Given the description of an element on the screen output the (x, y) to click on. 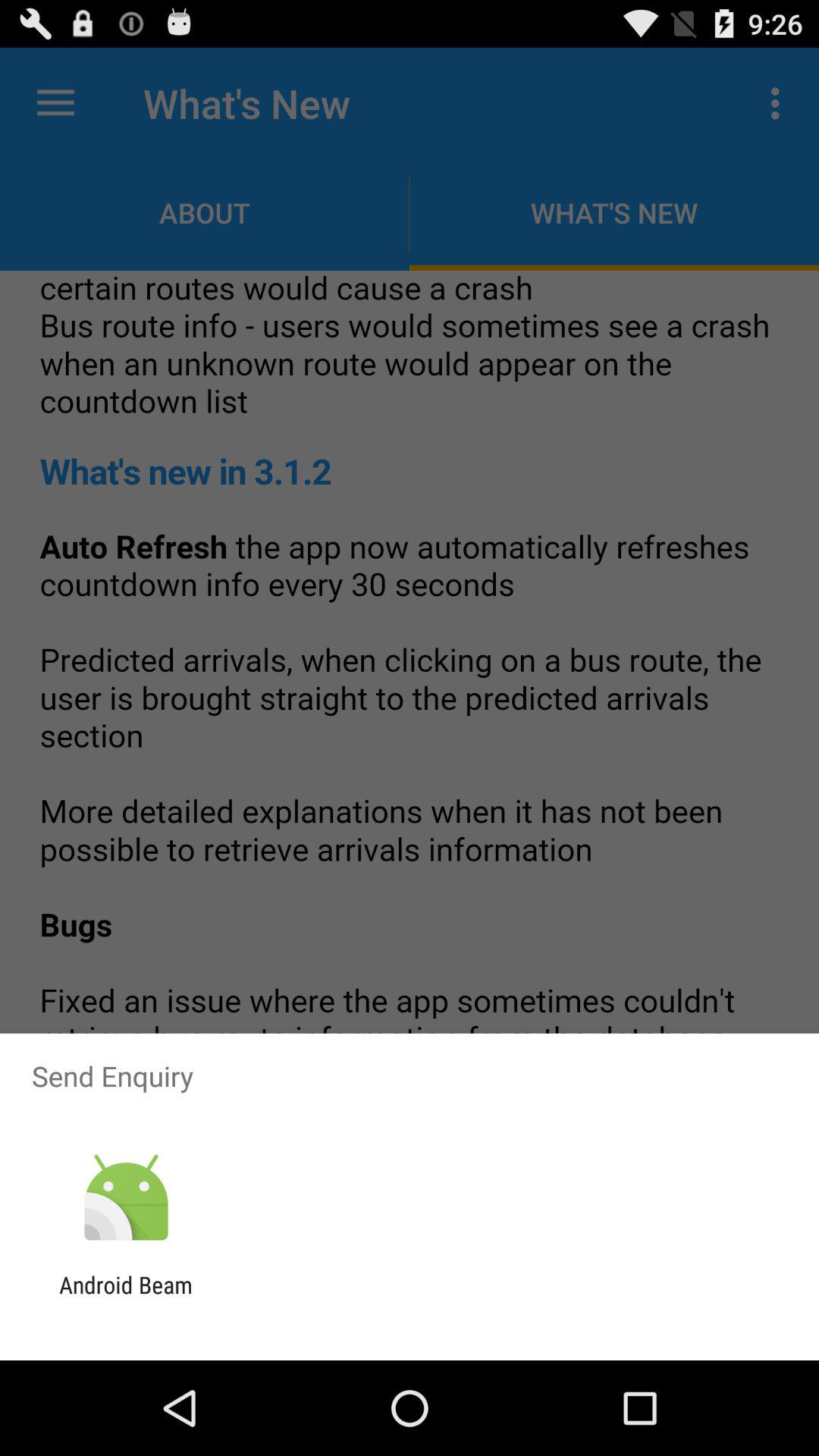
click item below the send enquiry icon (126, 1198)
